Given the description of an element on the screen output the (x, y) to click on. 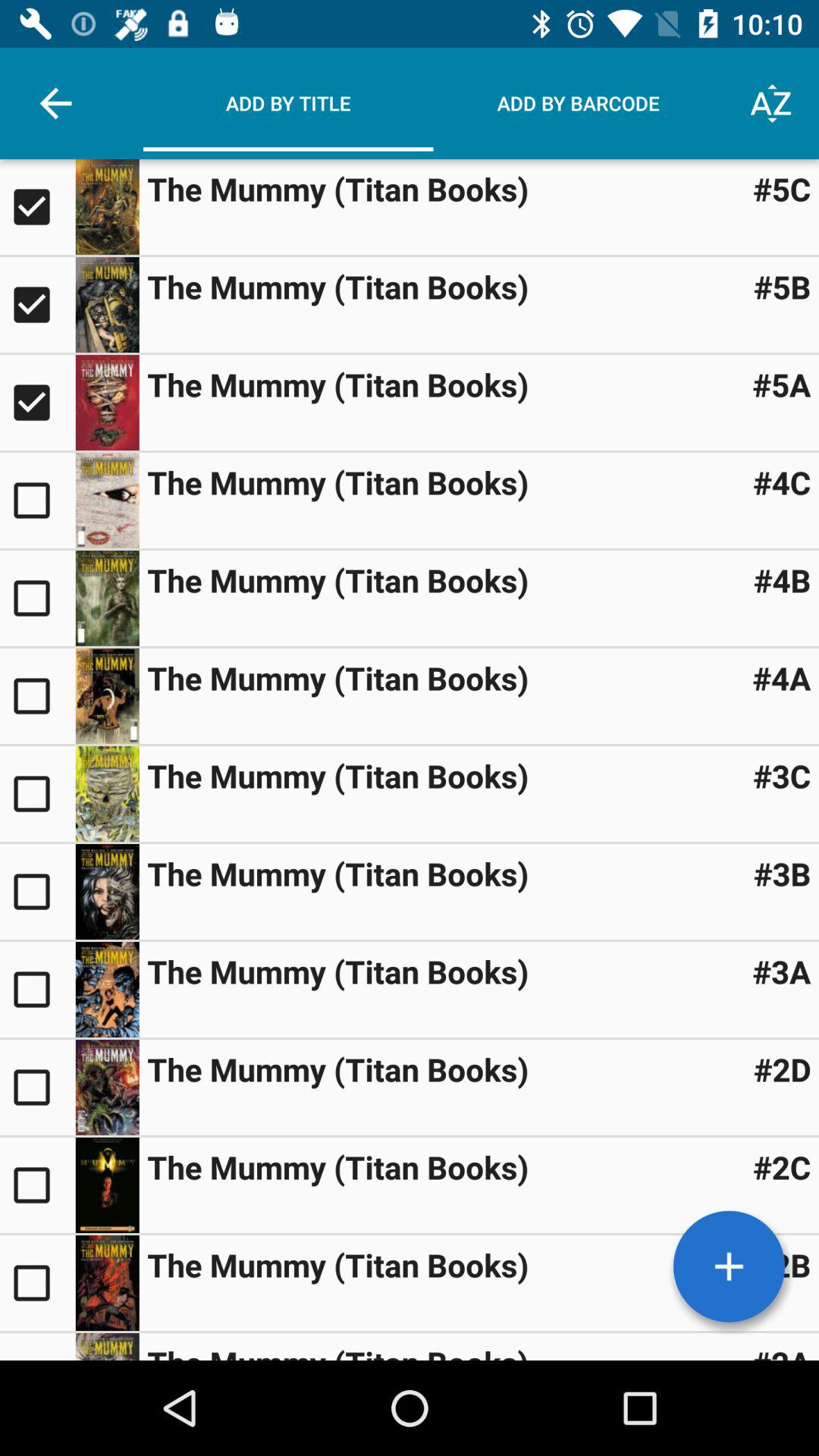
add the book to the list of selected books (37, 891)
